Given the description of an element on the screen output the (x, y) to click on. 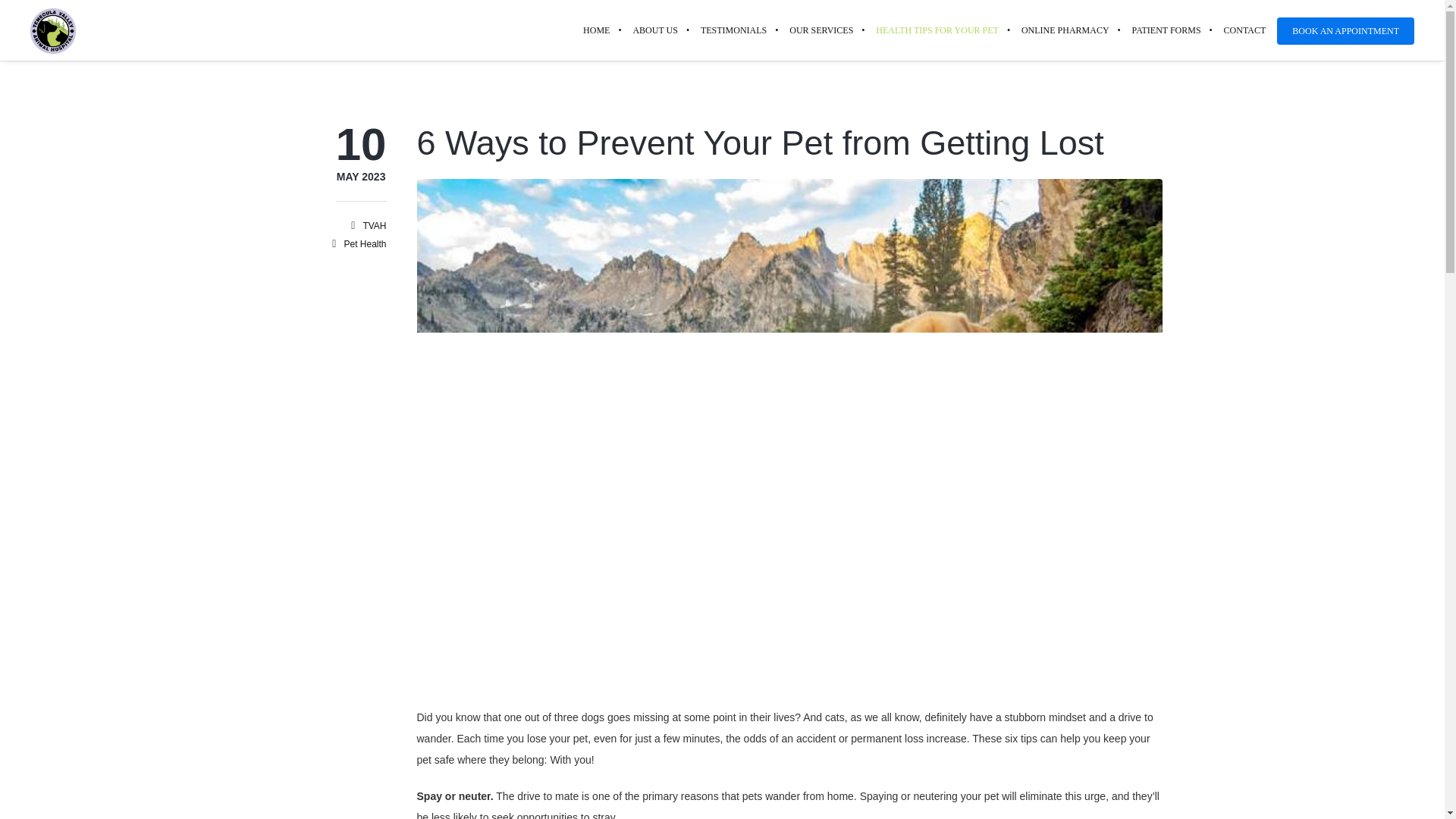
BOOK AN APPOINTMENT (1344, 31)
OUR SERVICES (820, 30)
HEALTH TIPS FOR YOUR PET (937, 30)
Pet Health (364, 244)
Posts by TVAH (361, 176)
TESTIMONIALS (373, 225)
ONLINE PHARMACY (732, 30)
ABOUT US (1065, 30)
CONTACT (654, 30)
